Given the description of an element on the screen output the (x, y) to click on. 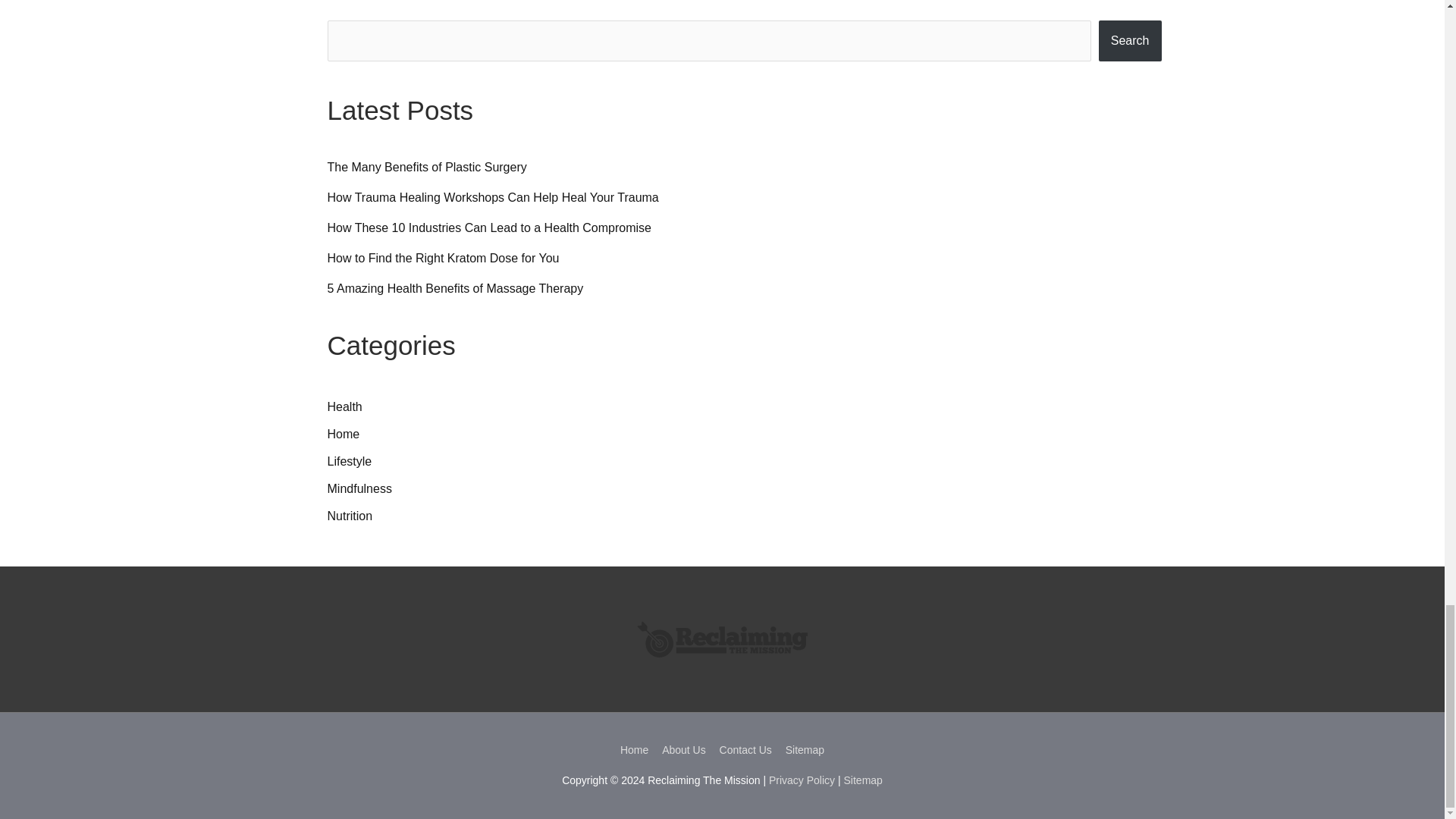
Sitemap (863, 779)
About Us (683, 749)
Sitemap (802, 749)
Health (344, 406)
Nutrition (349, 515)
Mindfulness (359, 488)
The Many Benefits of Plastic Surgery (427, 166)
Home (343, 433)
Contact Us (745, 749)
Home (636, 749)
